Given the description of an element on the screen output the (x, y) to click on. 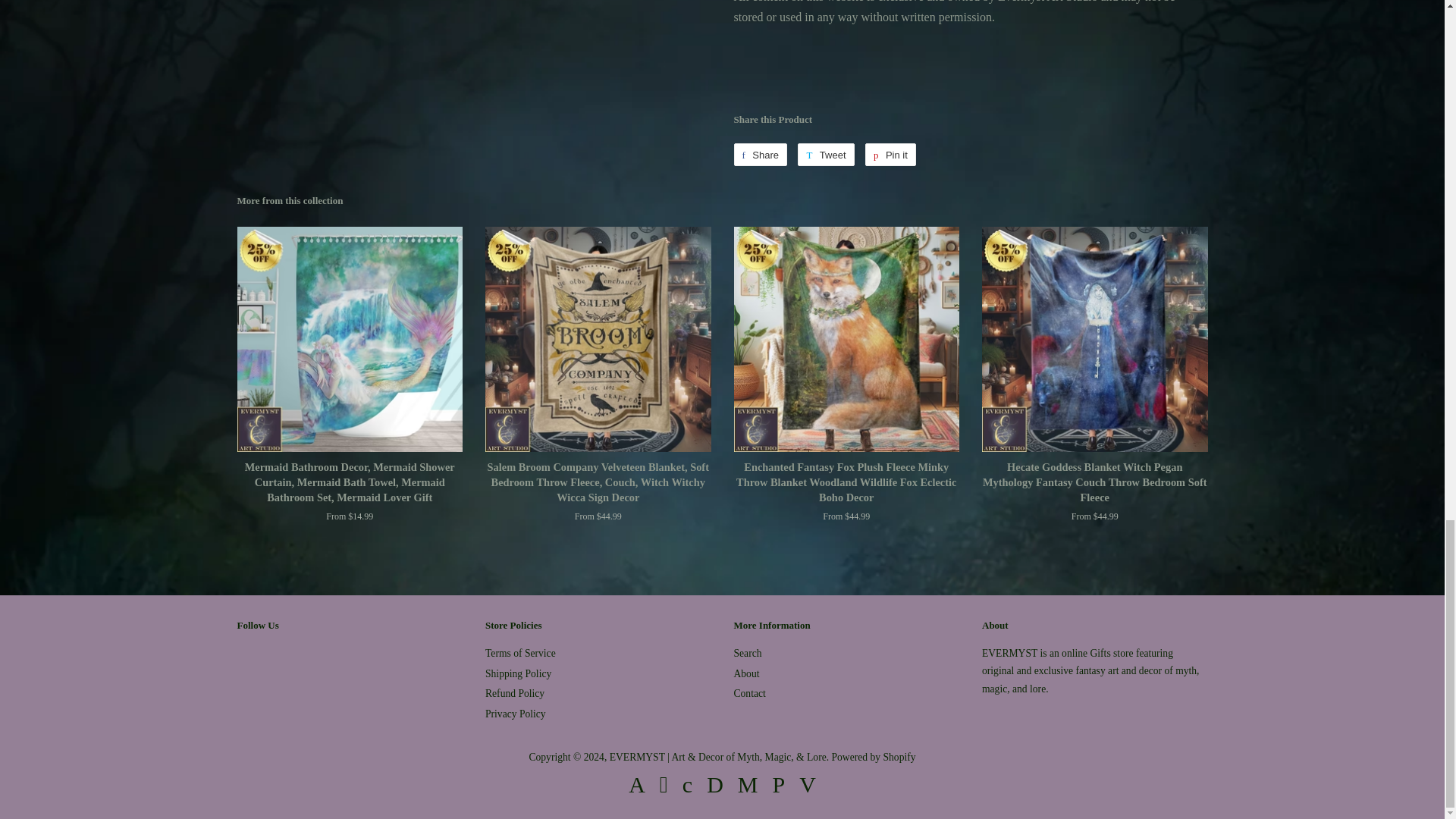
Tweet on Twitter (825, 154)
Share on Facebook (760, 154)
Pin on Pinterest (889, 154)
